Given the description of an element on the screen output the (x, y) to click on. 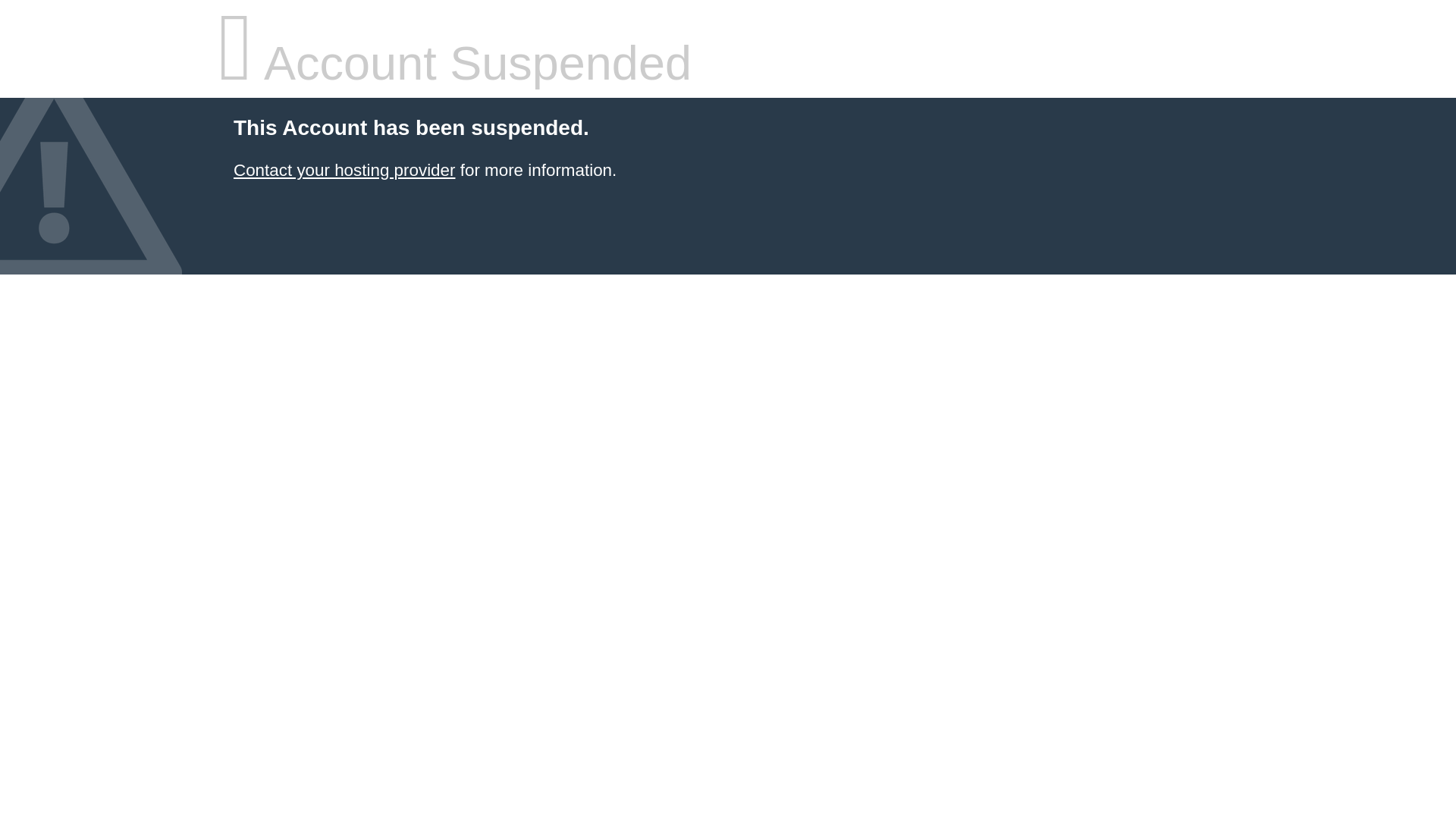
Contact your hosting provider (343, 169)
